Given the description of an element on the screen output the (x, y) to click on. 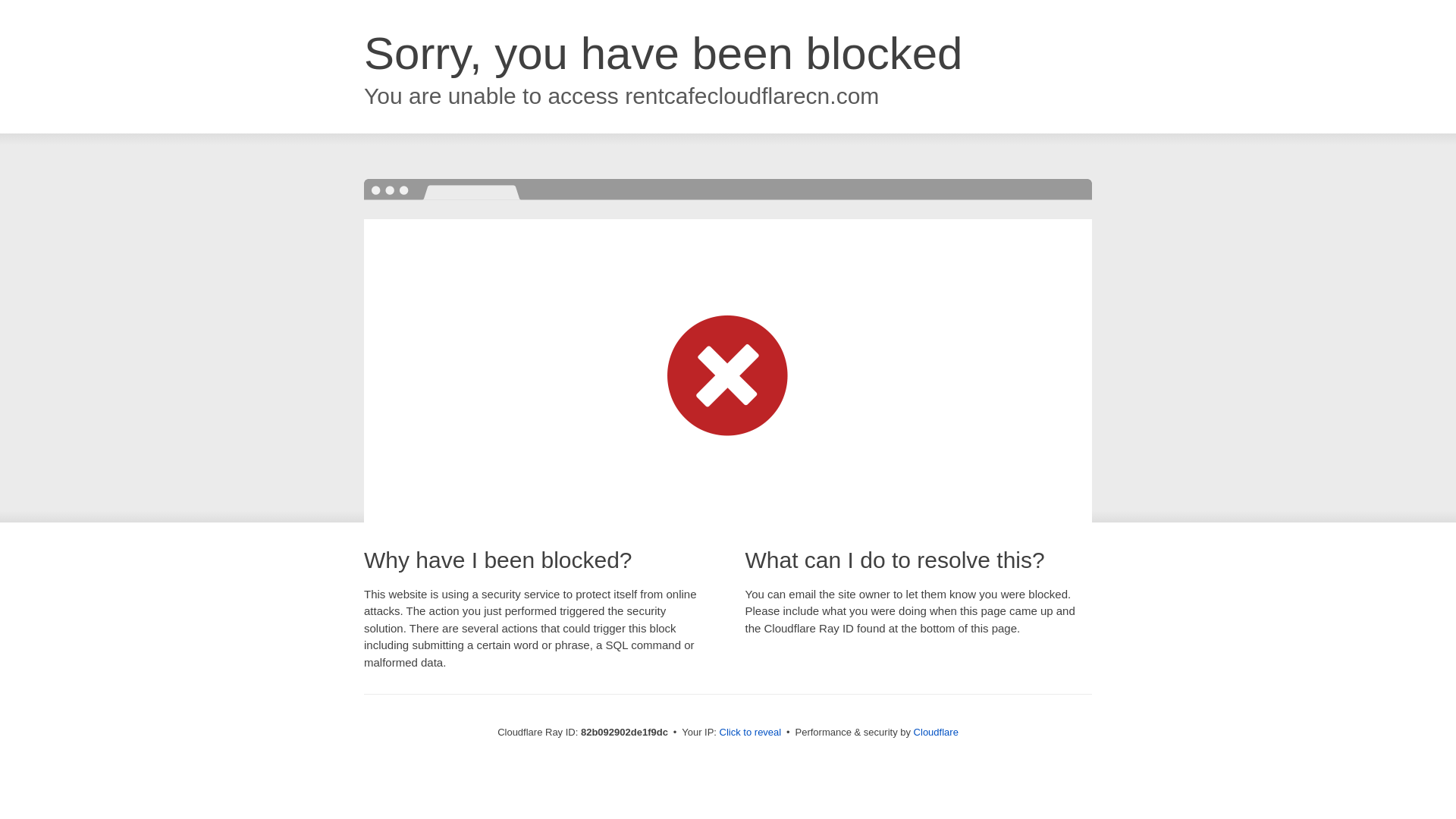
Click to reveal Element type: text (750, 732)
Cloudflare Element type: text (935, 731)
